Given the description of an element on the screen output the (x, y) to click on. 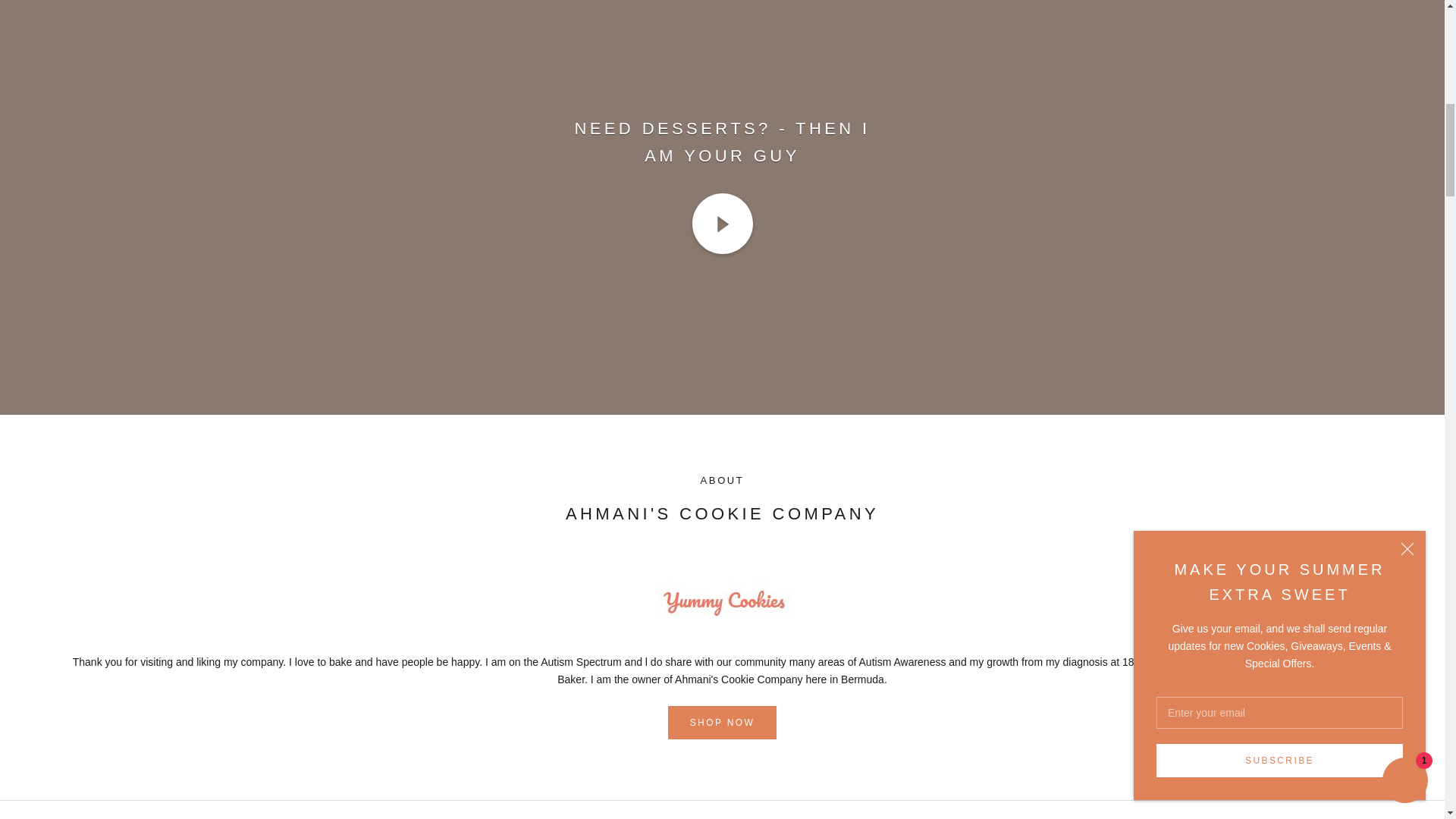
SHOP NOW (722, 722)
